Given the description of an element on the screen output the (x, y) to click on. 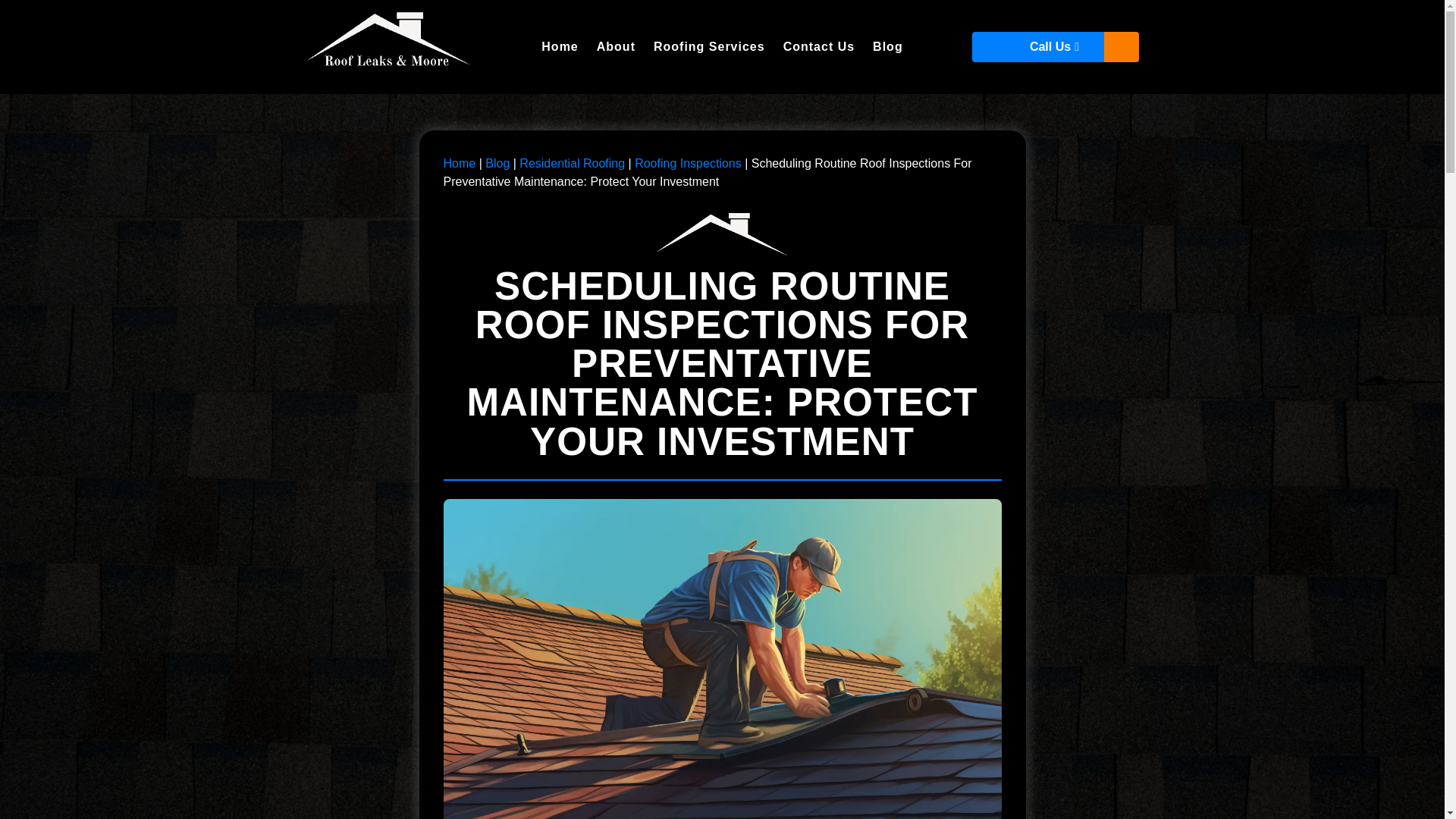
About (615, 46)
Blog (496, 163)
Call Us (1055, 46)
Residential Roofing (571, 163)
Home (559, 46)
Blog (887, 46)
Blog (496, 163)
Home (459, 163)
Roofing Services (709, 46)
Roofing Inspections (687, 163)
